Given the description of an element on the screen output the (x, y) to click on. 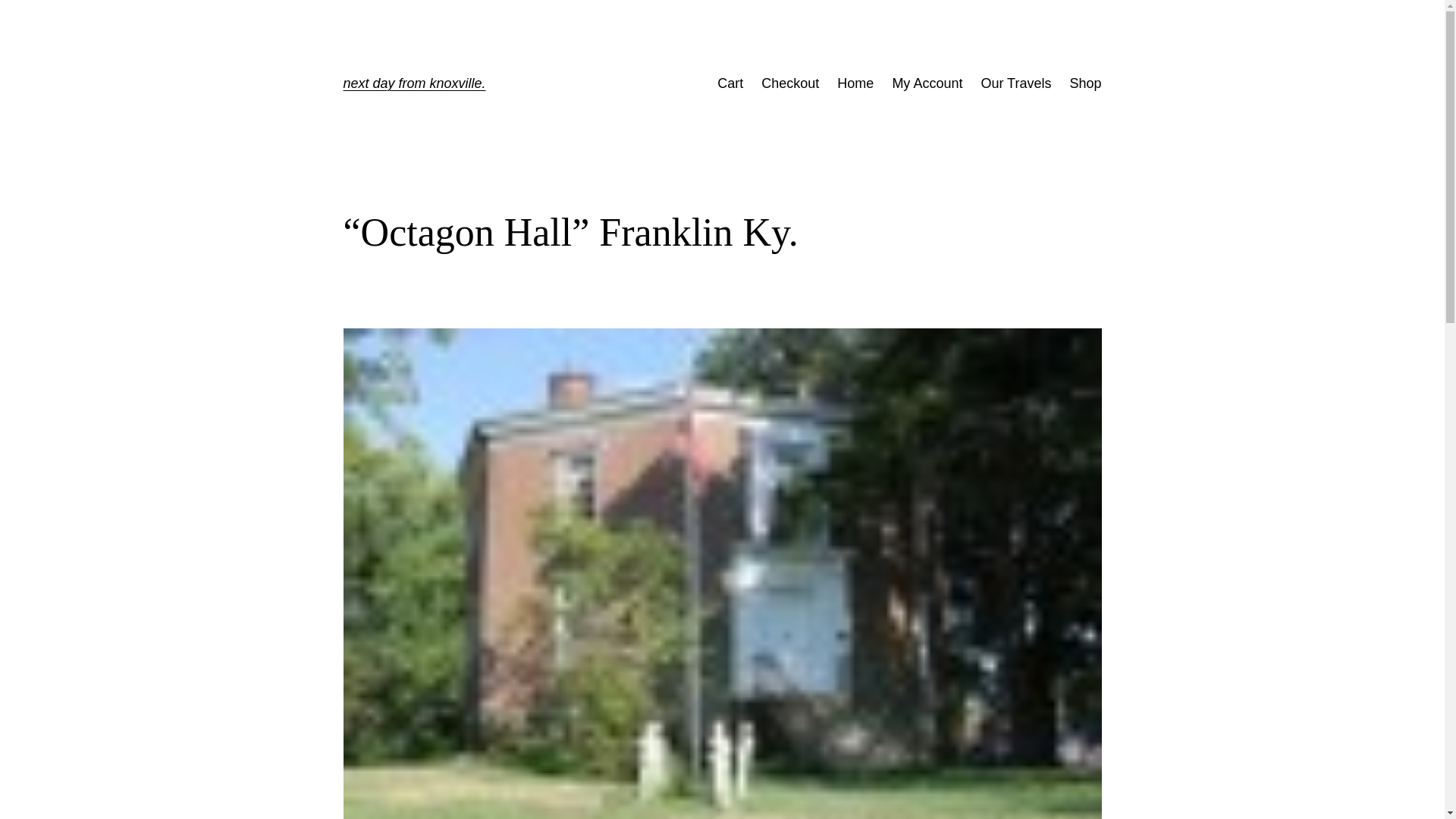
Our Travels (1015, 83)
Checkout (789, 83)
Shop (1084, 83)
Home (855, 83)
My Account (926, 83)
next day from knoxville. (413, 83)
Cart (729, 83)
